Given the description of an element on the screen output the (x, y) to click on. 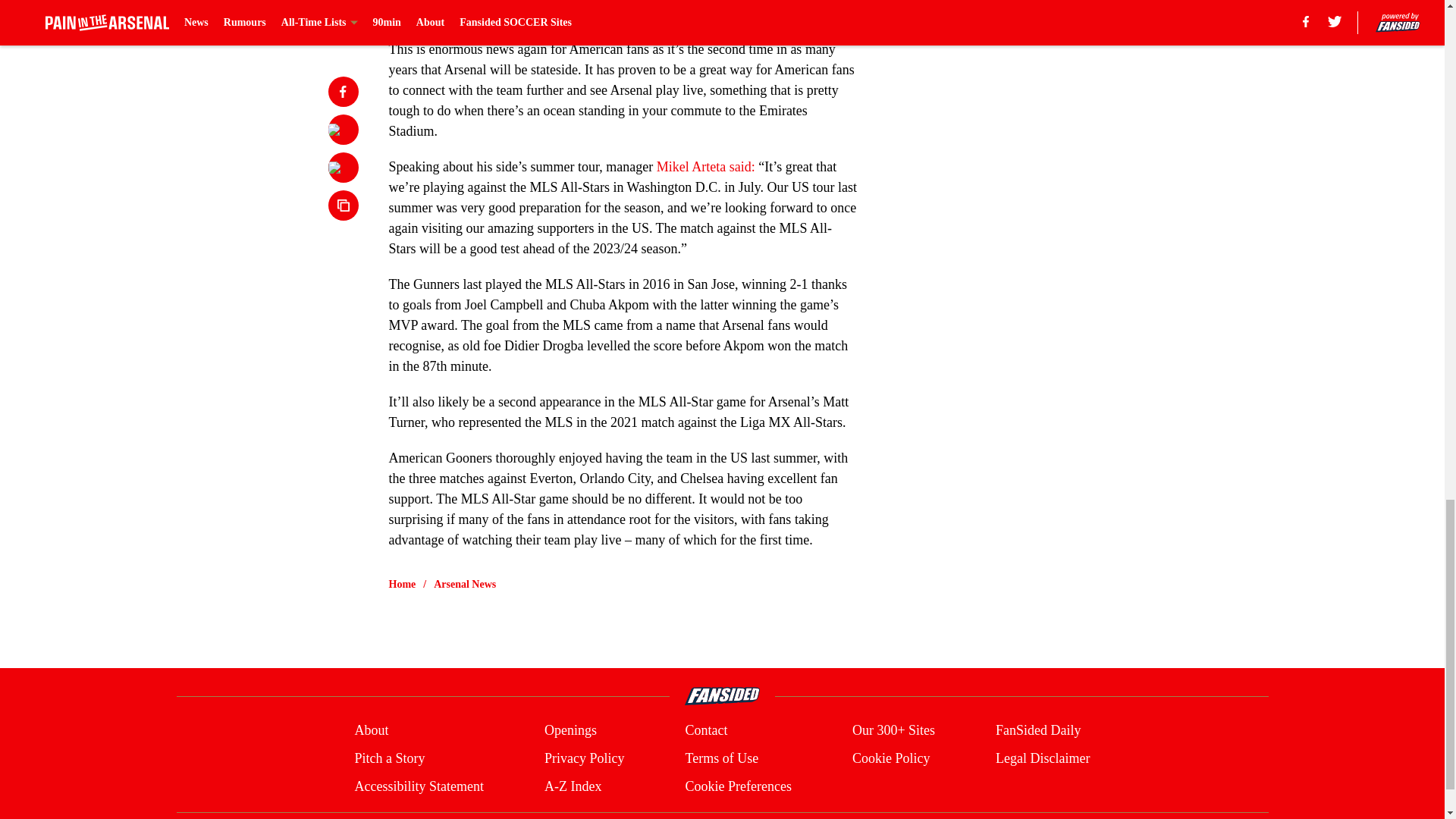
Contact (705, 730)
Cookie Policy (890, 758)
Accessibility Statement (418, 786)
Cookie Preferences (737, 786)
Home (401, 584)
Terms of Use (721, 758)
Pitch a Story (389, 758)
Openings (570, 730)
Privacy Policy (584, 758)
Mikel Arteta said: (705, 166)
